Given the description of an element on the screen output the (x, y) to click on. 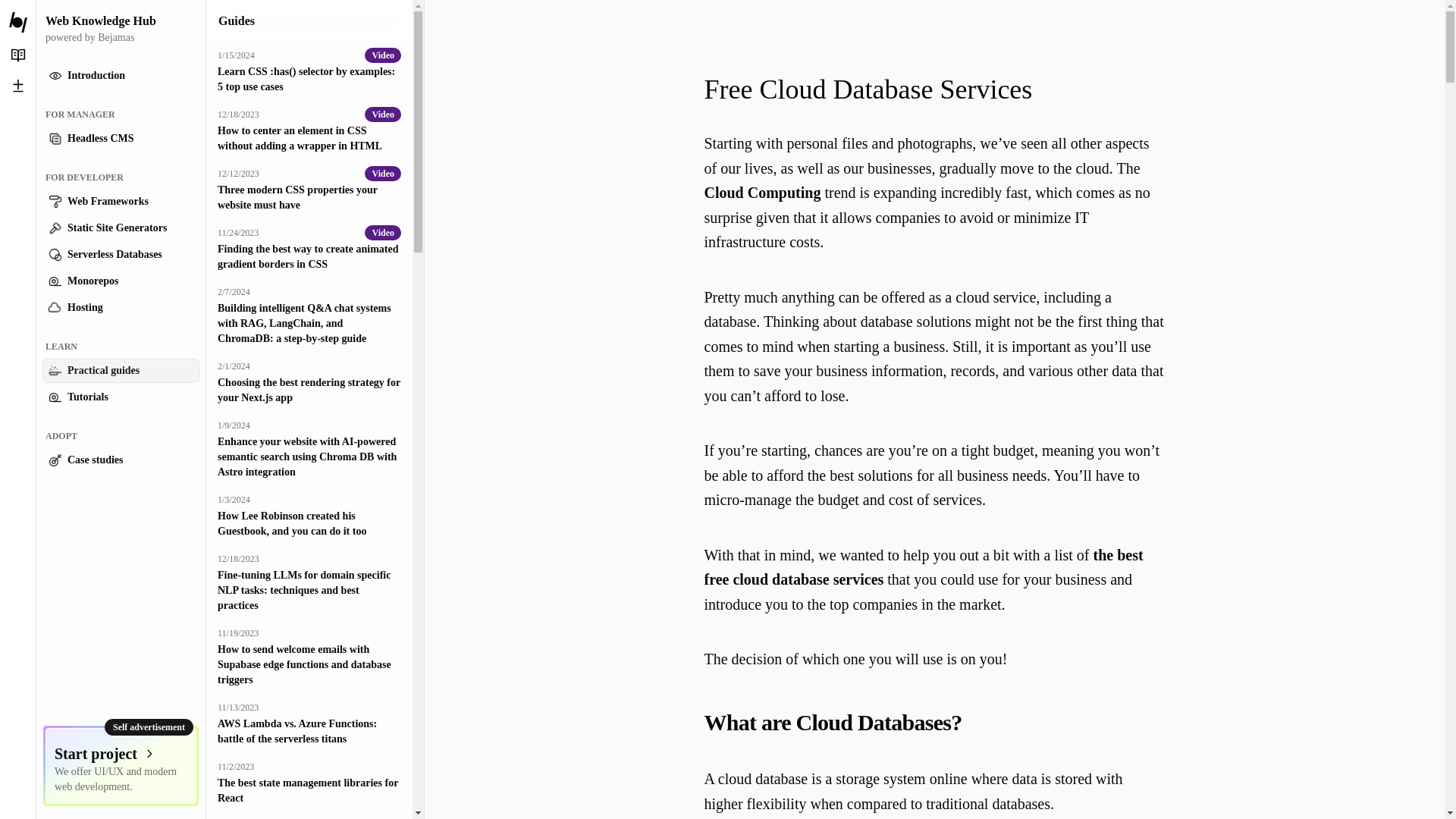
Hosting (120, 307)
Introduction (120, 75)
Practical guides (120, 370)
Serverless Databases (120, 254)
Headless CMS (120, 138)
What are Cloud Databases? (933, 722)
Knowledge Hub (18, 54)
Web Frameworks (120, 201)
Static Site Generators (120, 228)
Guides (236, 20)
